Given the description of an element on the screen output the (x, y) to click on. 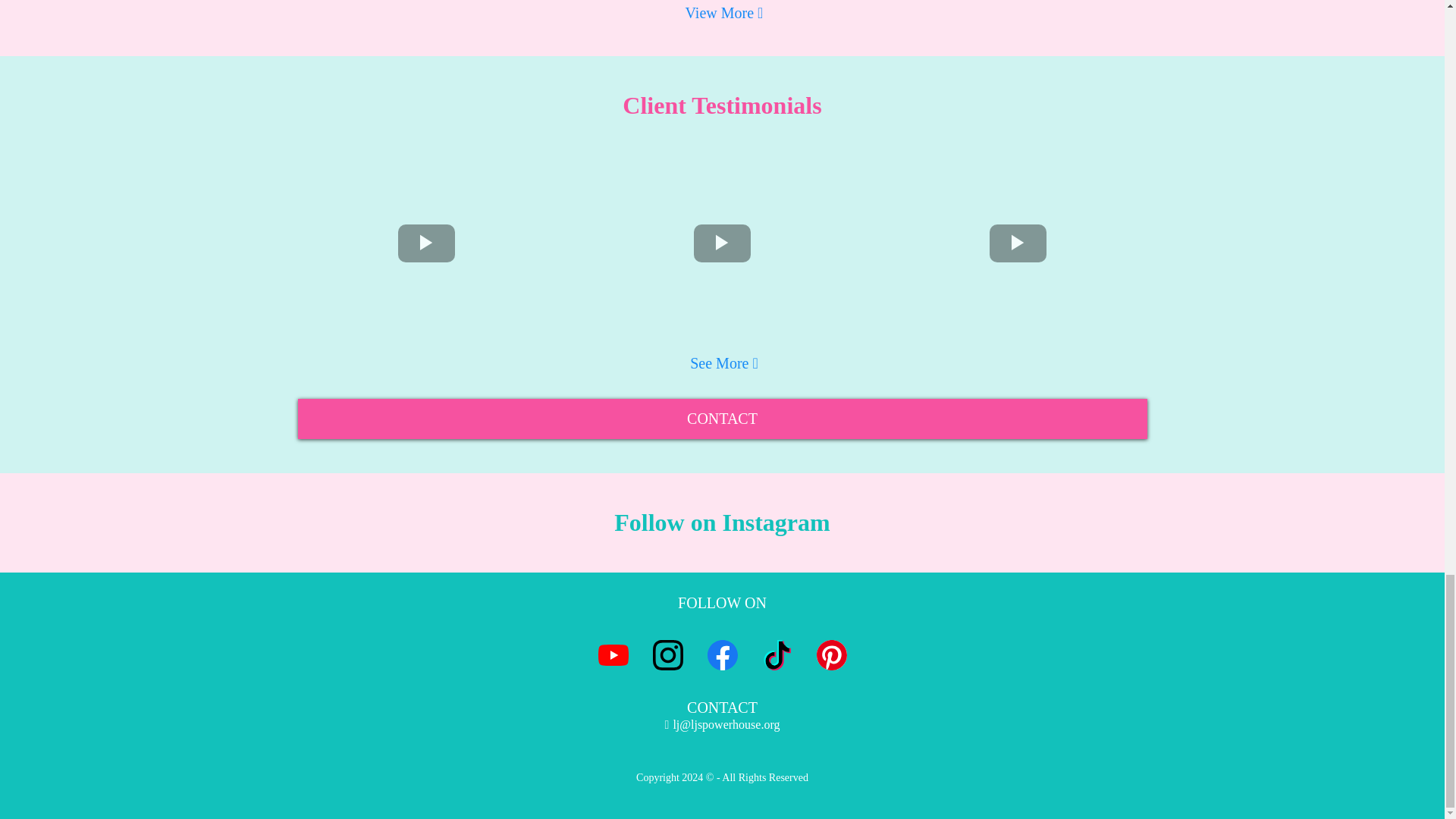
CONTACT (722, 418)
View More (721, 13)
See More (721, 363)
